Given the description of an element on the screen output the (x, y) to click on. 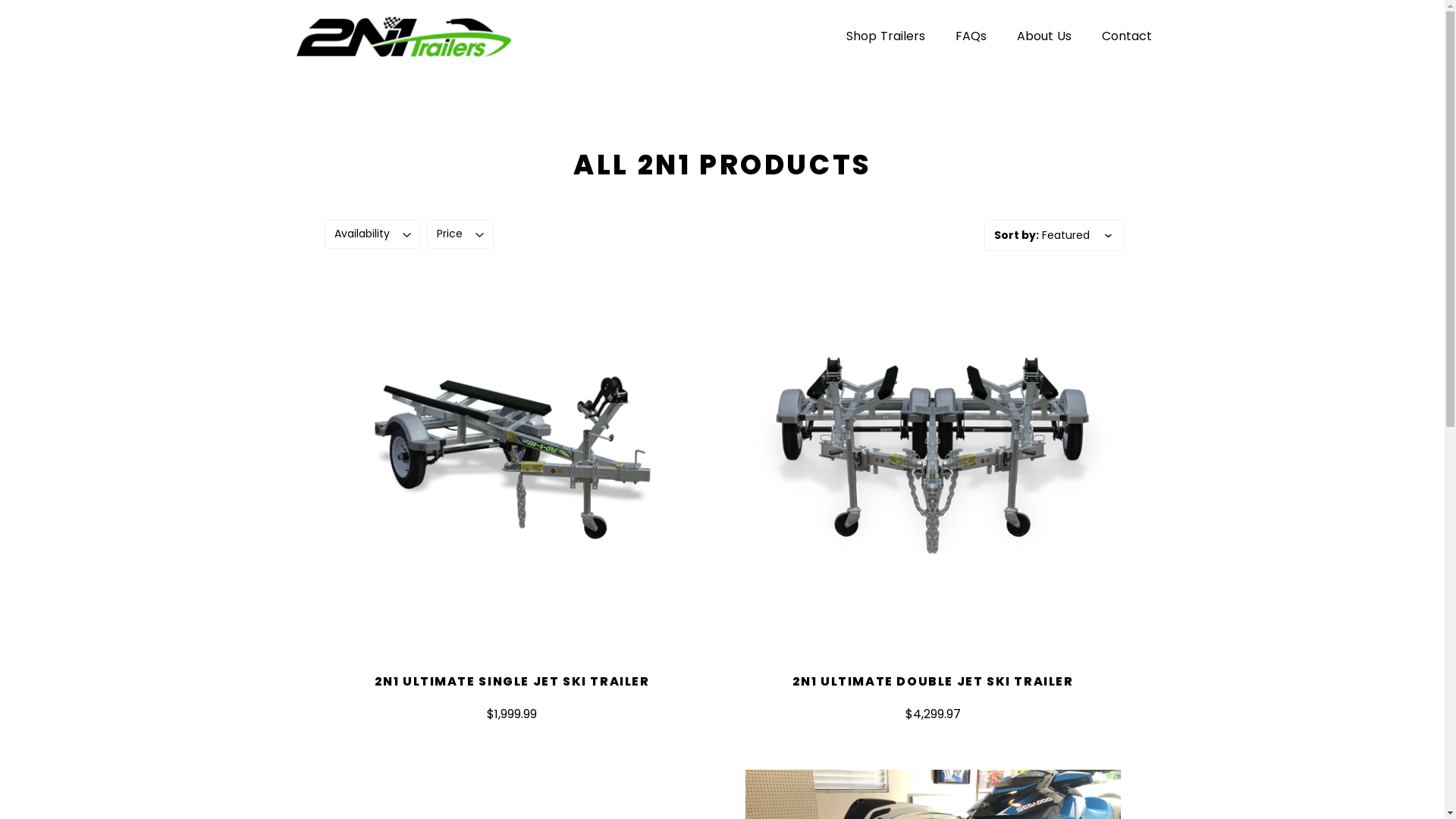
FAQs Element type: text (970, 36)
2N1 ULTIMATE DOUBLE JET SKI TRAILER Element type: text (932, 681)
Contact Element type: text (1125, 36)
2N1 ULTIMATE SINGLE JET SKI TRAILER Element type: text (511, 681)
Shop Trailers Element type: text (885, 36)
About Us Element type: text (1043, 36)
